Given the description of an element on the screen output the (x, y) to click on. 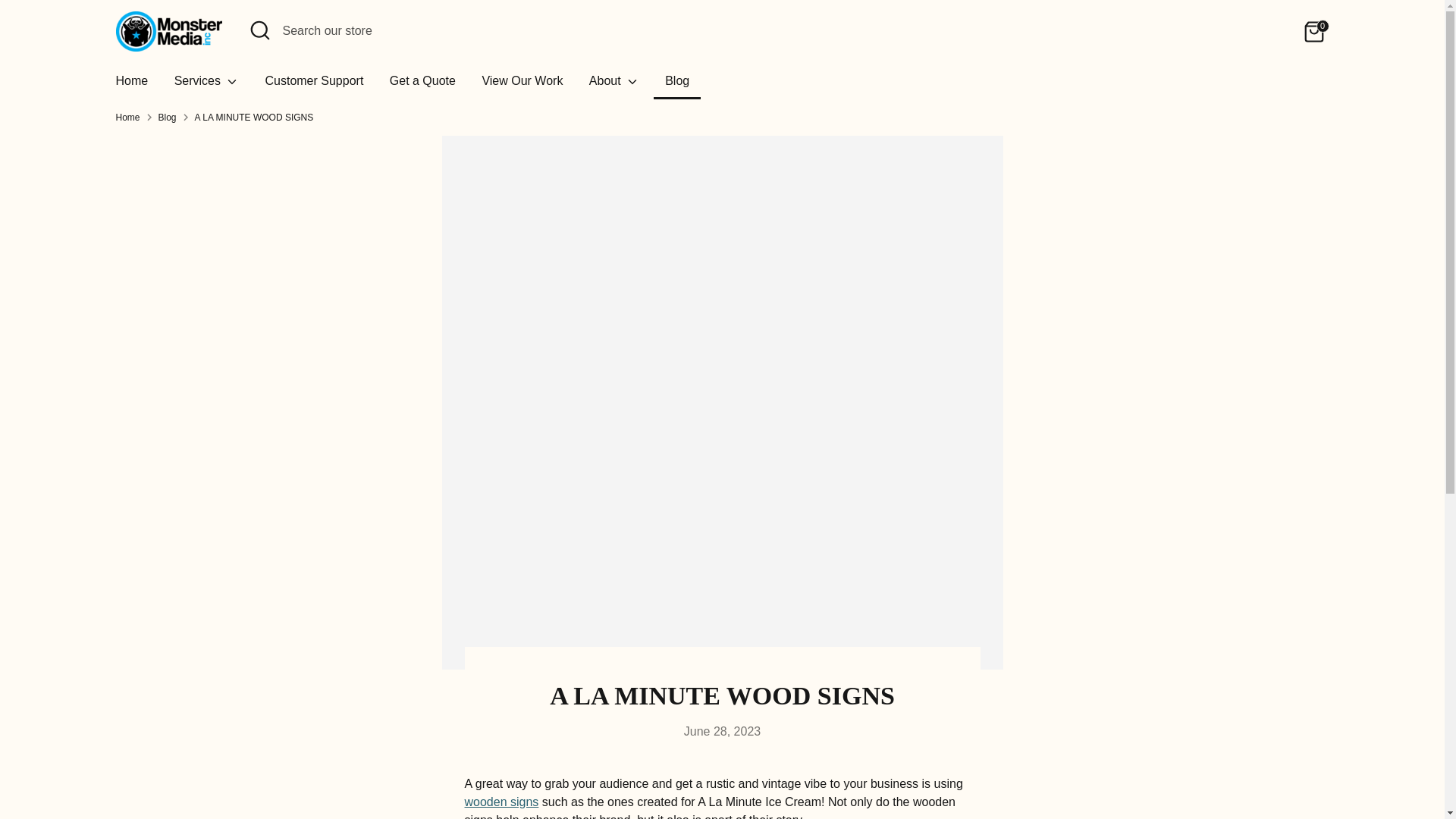
Venmo (1312, 771)
About (614, 85)
Get a Quote (422, 85)
View Our Work (521, 85)
Services (206, 85)
Home (132, 85)
Customer Support (313, 85)
PayPal (1282, 771)
0 (1312, 31)
